Given the description of an element on the screen output the (x, y) to click on. 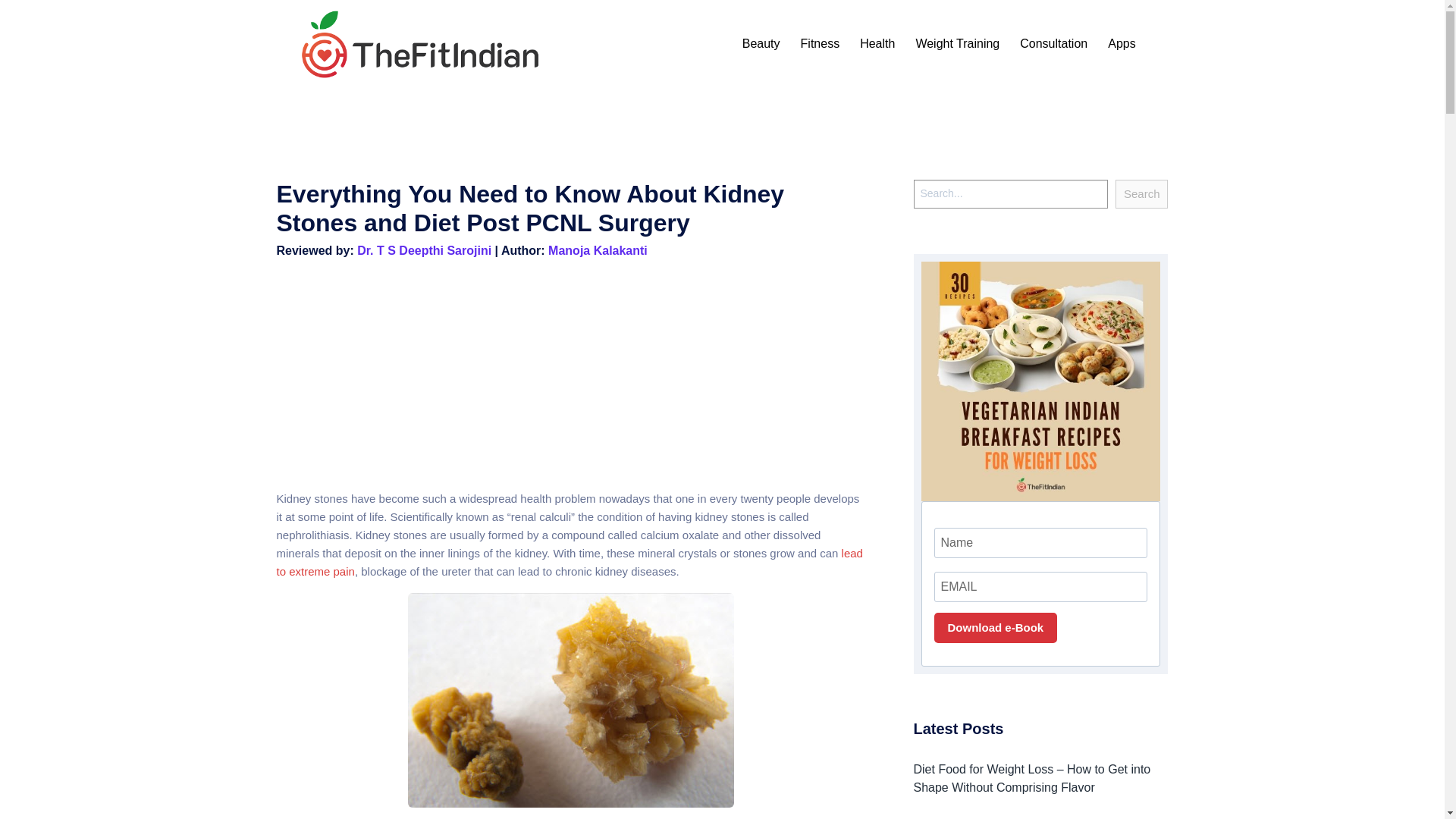
Manoja Kalakanti (597, 250)
lead to extreme pain (568, 562)
Fitness (820, 43)
Health (876, 43)
Weight Training (957, 43)
Dr. T S Deepthi Sarojini (424, 250)
Beauty (761, 43)
Consultation (1053, 43)
Apps (1120, 43)
Manoja Kalakanti (597, 250)
